Given the description of an element on the screen output the (x, y) to click on. 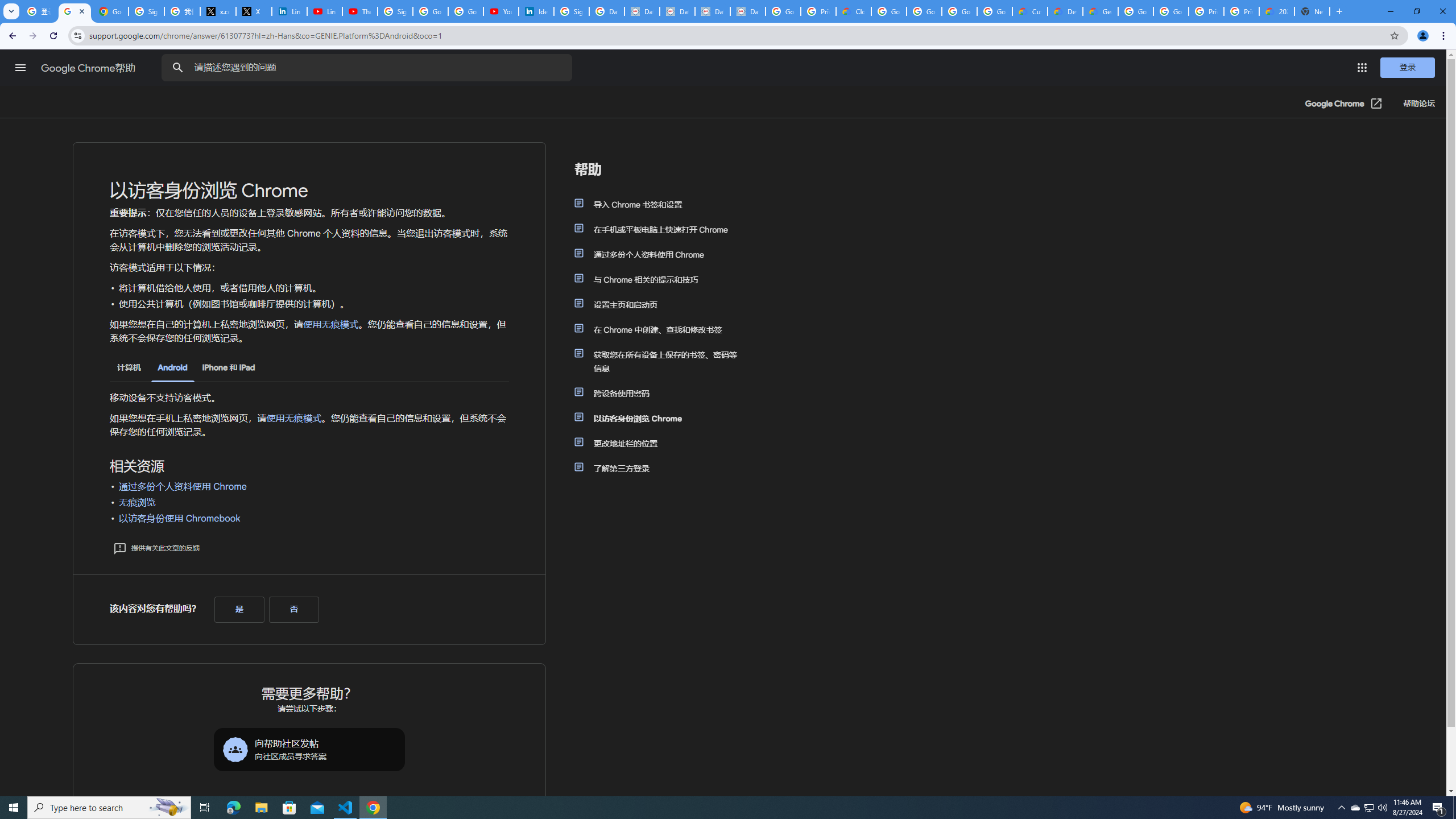
Sign in - Google Accounts (145, 11)
Sign in - Google Accounts (571, 11)
